Given the description of an element on the screen output the (x, y) to click on. 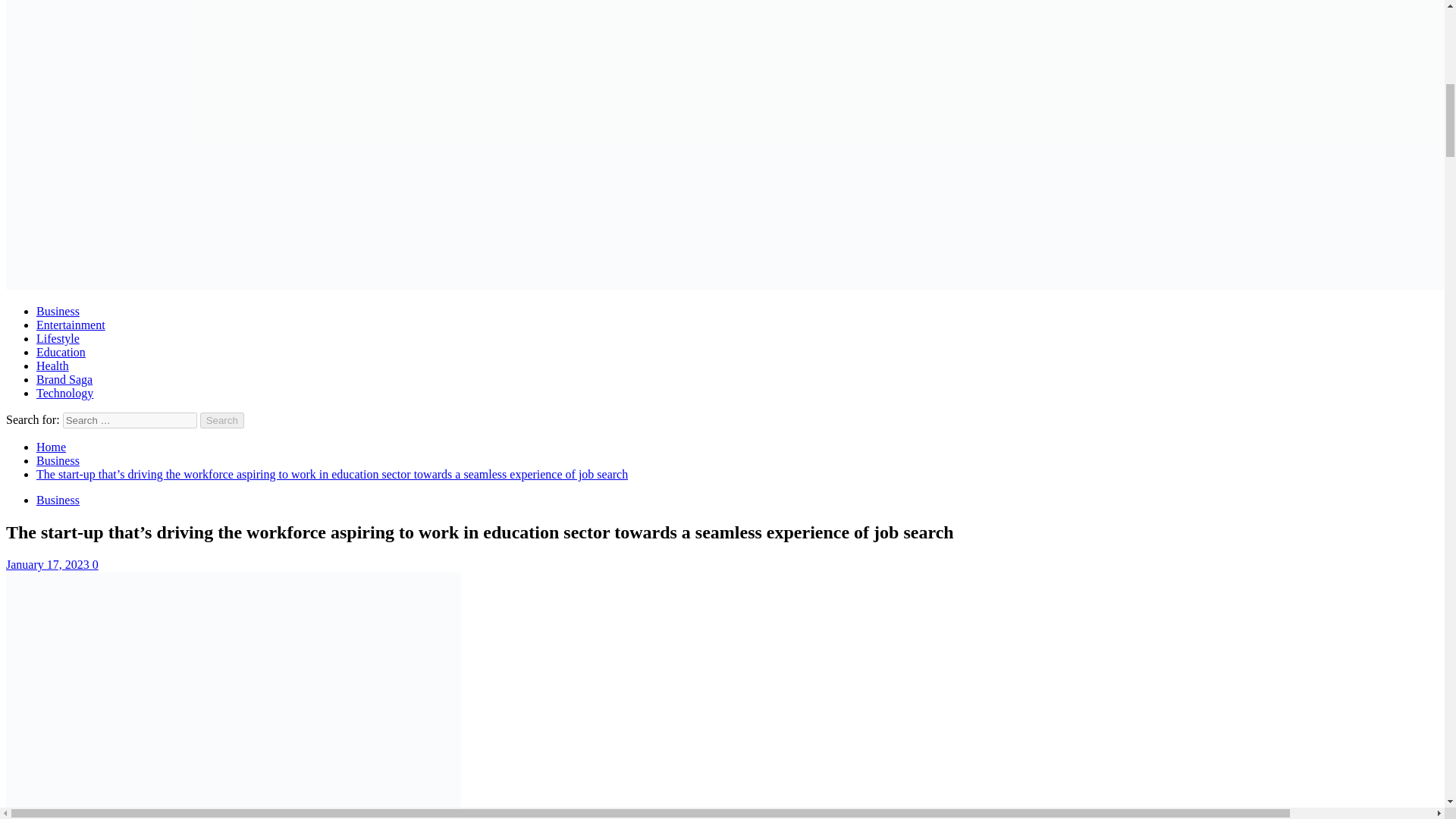
Entertainment (70, 324)
January 17, 2023 (49, 563)
Search (222, 420)
Technology (64, 392)
Home (50, 446)
Lifestyle (58, 338)
Brand Saga (64, 379)
Health (52, 365)
Search (222, 420)
Education (60, 351)
Business (58, 460)
Search (222, 420)
Business (58, 499)
Business (58, 310)
